Given the description of an element on the screen output the (x, y) to click on. 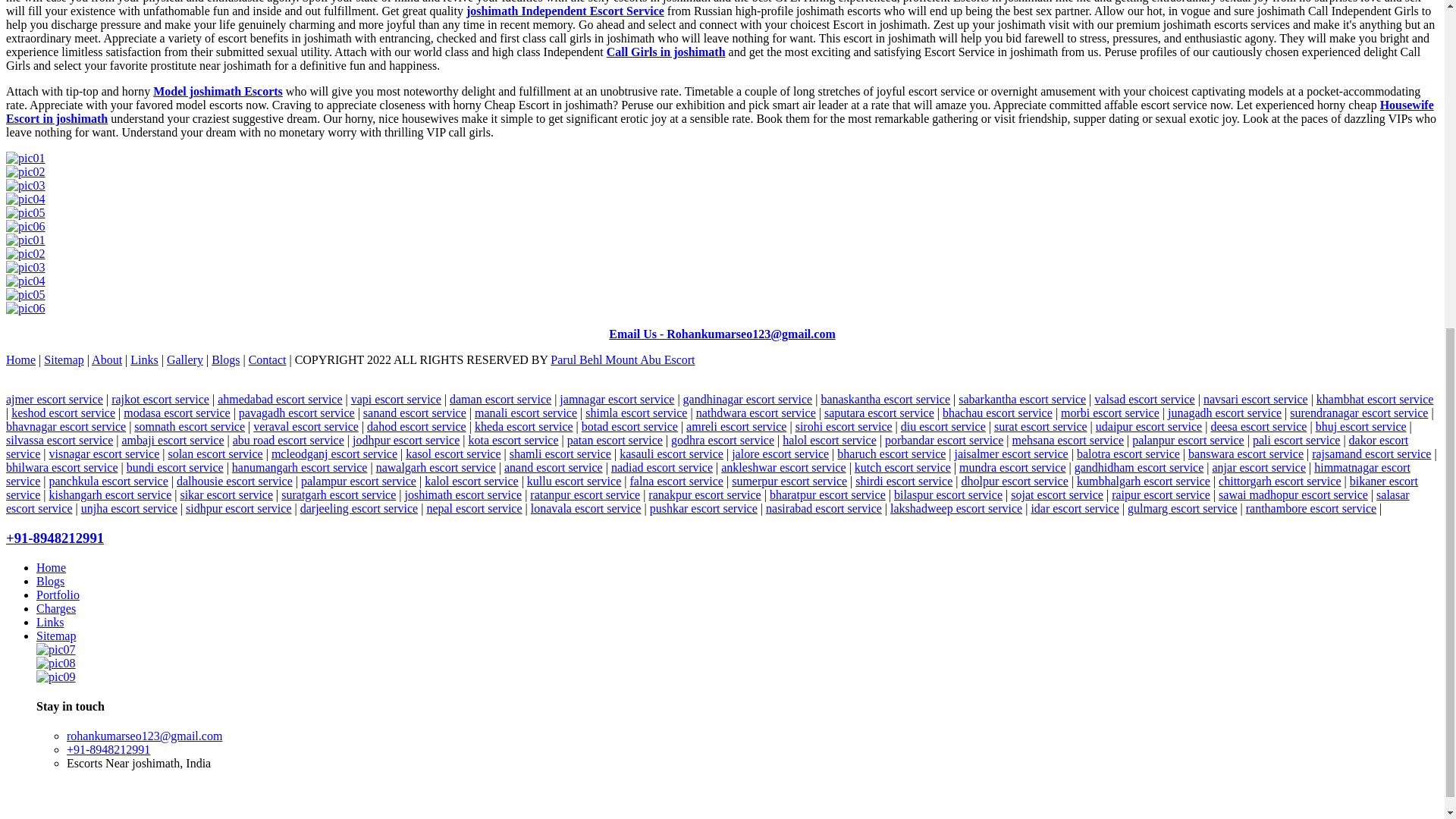
Call Girls in joshimath (666, 51)
joshimath Independent Escort Service (564, 10)
Model joshimath Escorts (217, 91)
